Given the description of an element on the screen output the (x, y) to click on. 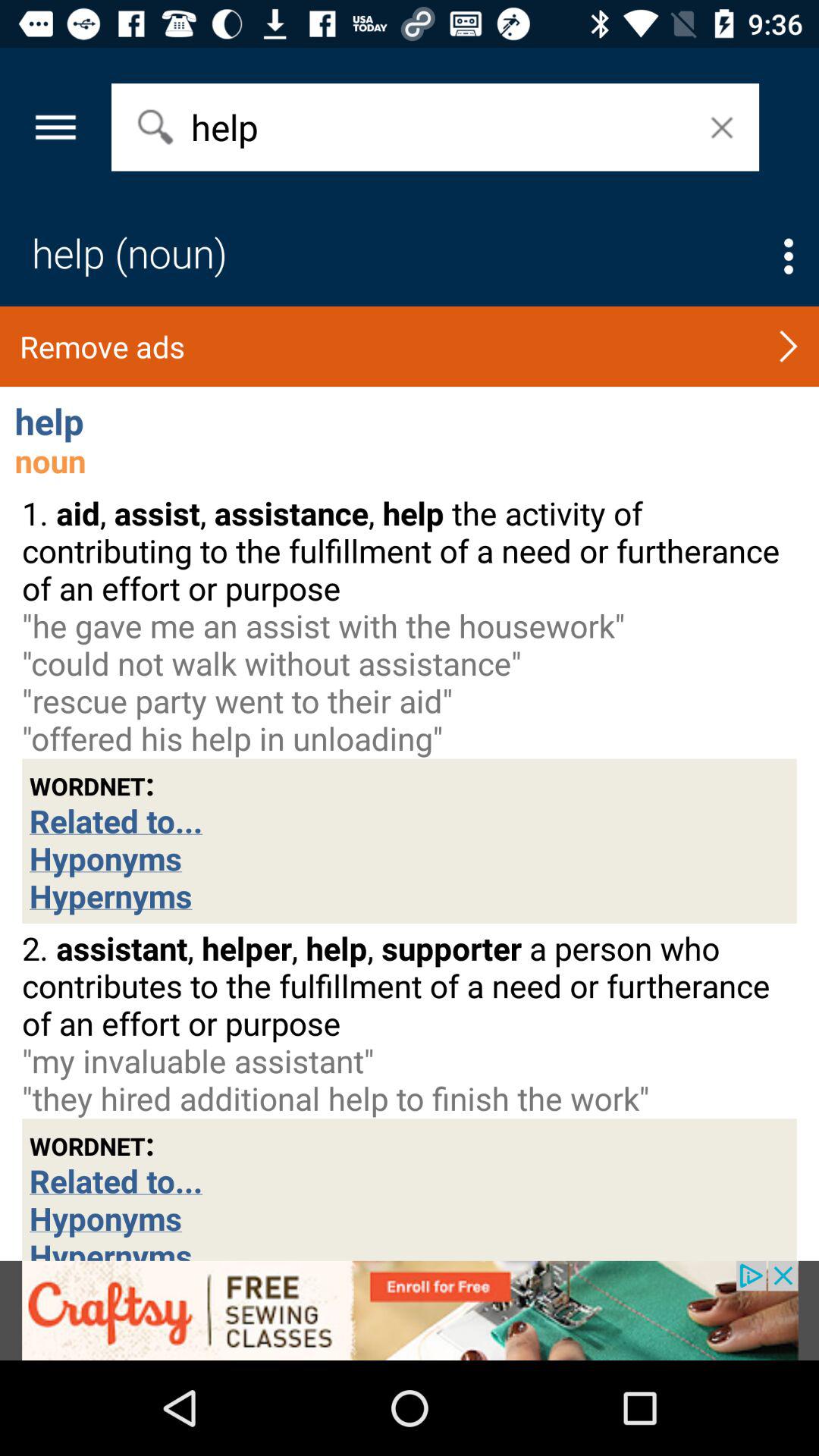
advertisement (409, 1310)
